Given the description of an element on the screen output the (x, y) to click on. 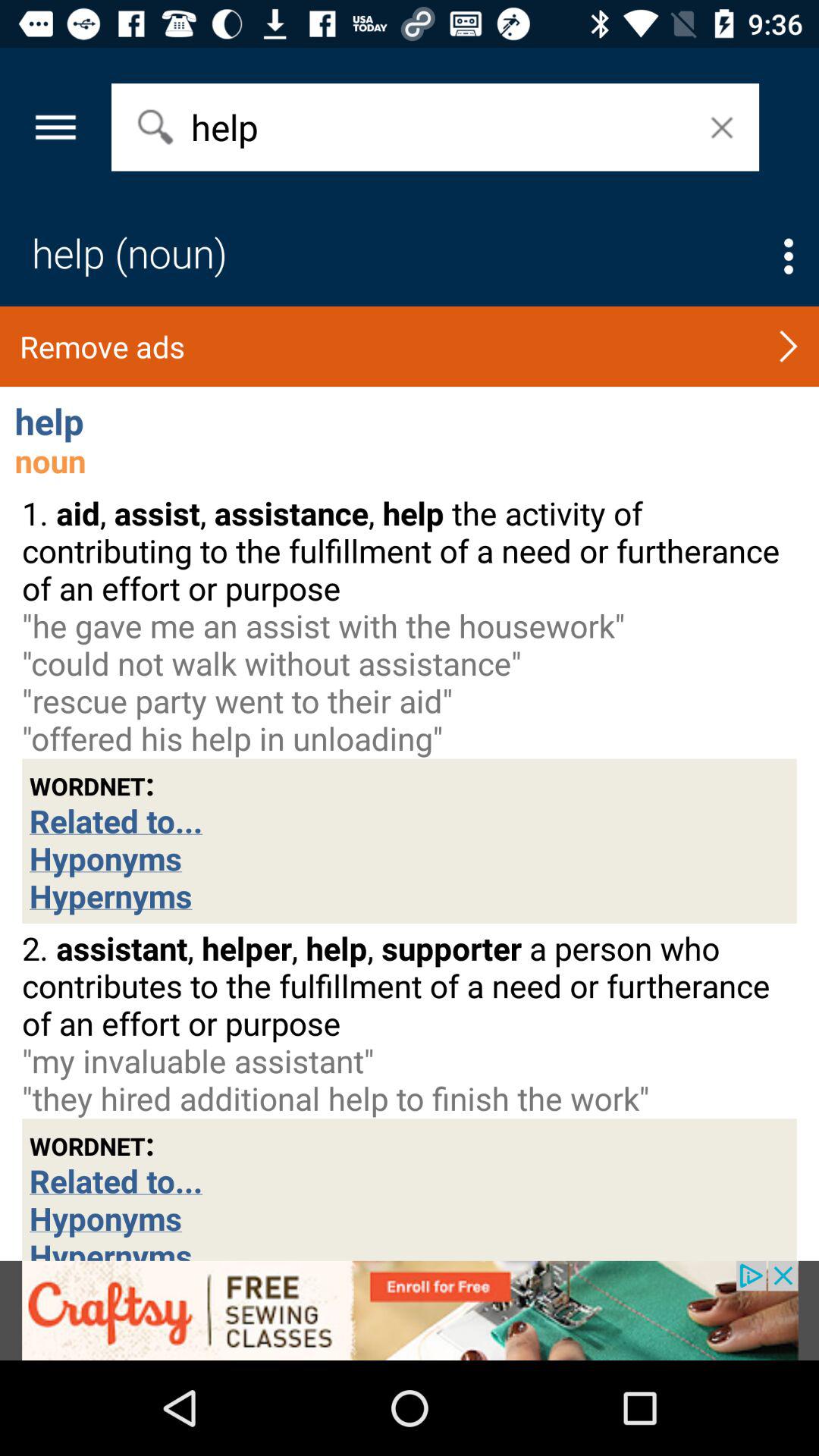
advertisement (409, 1310)
